Given the description of an element on the screen output the (x, y) to click on. 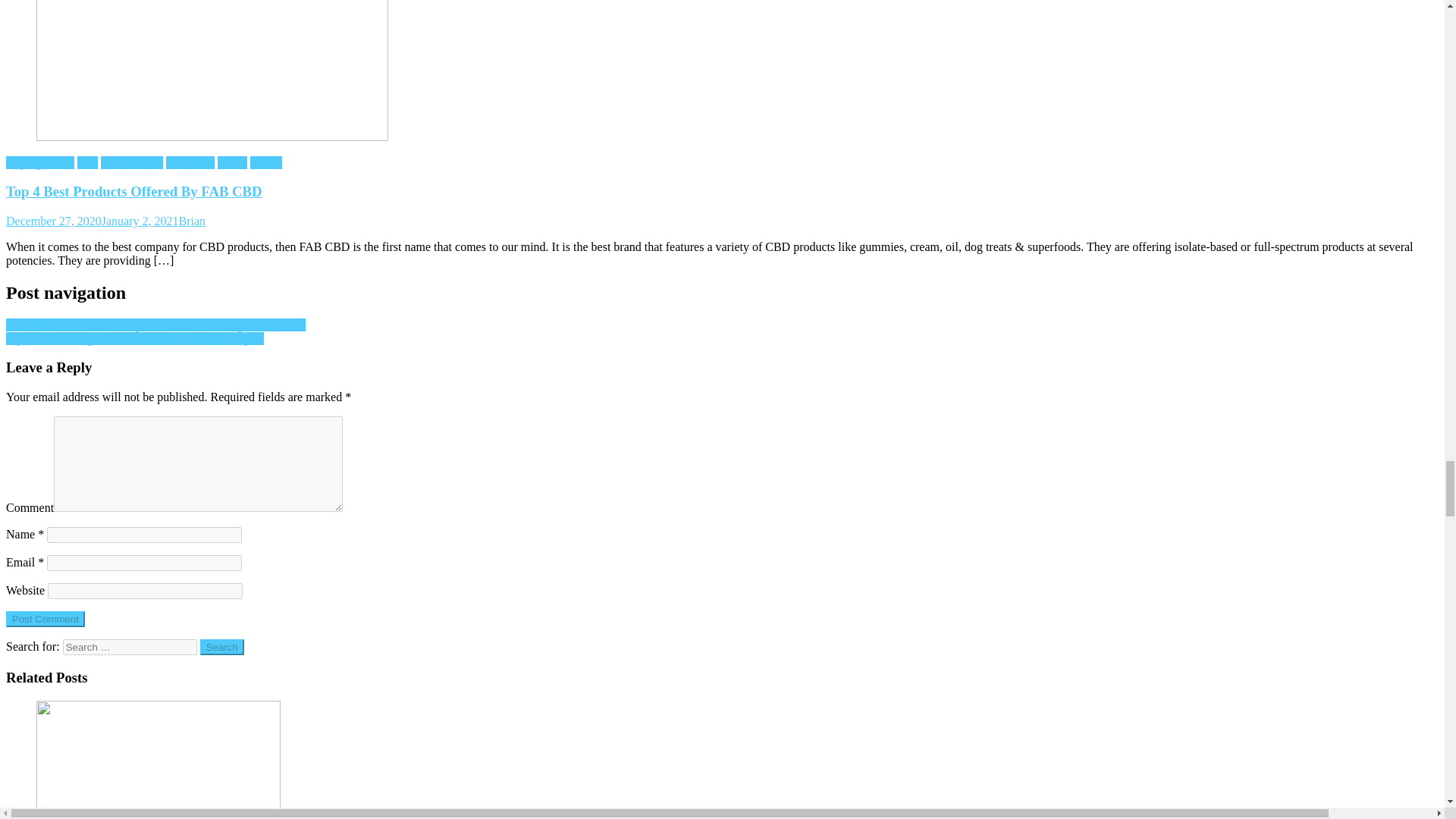
Post Comment (44, 618)
Search (222, 647)
Search (222, 647)
